Given the description of an element on the screen output the (x, y) to click on. 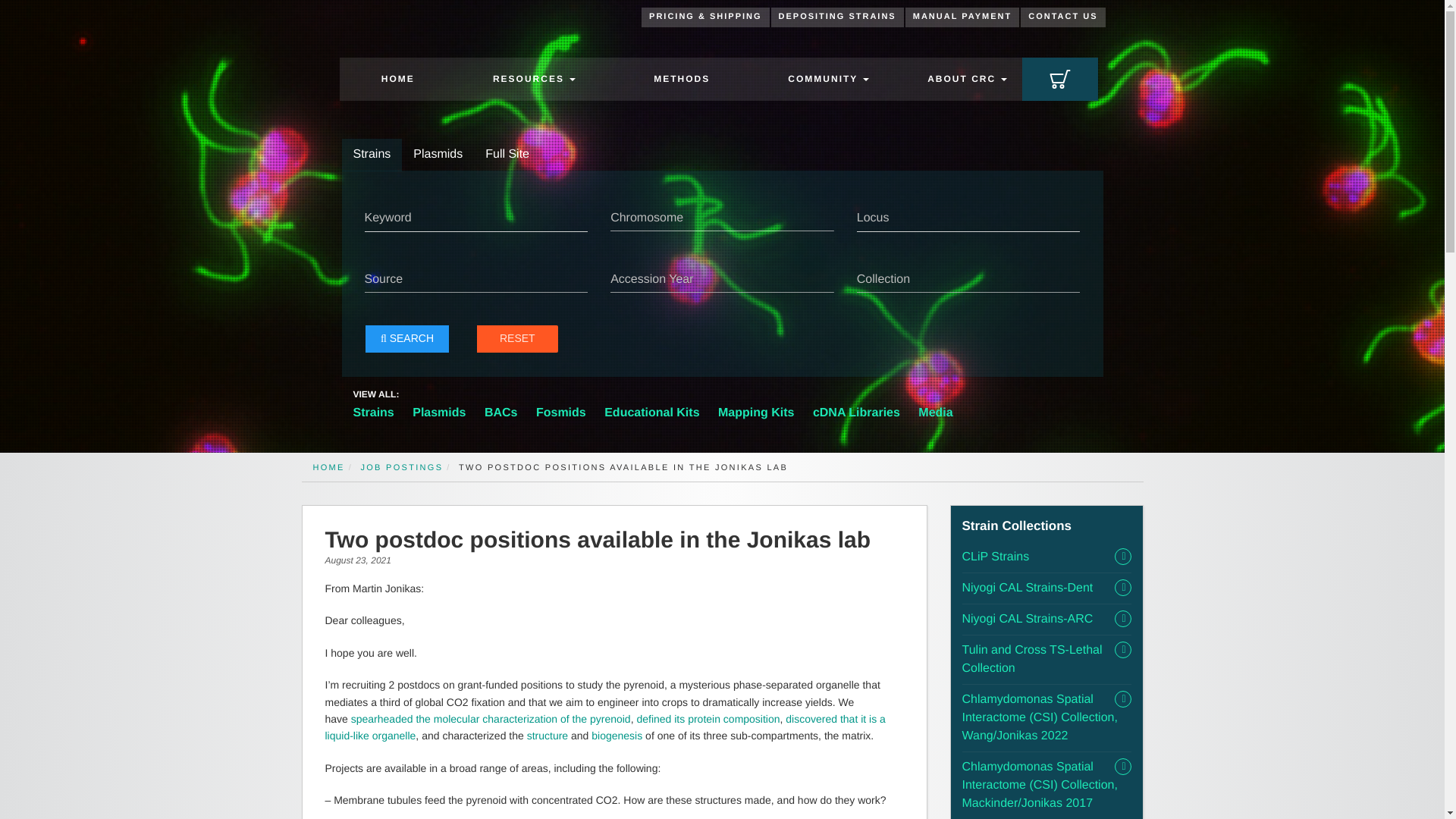
Strains (370, 154)
HOME (398, 78)
DEPOSITING STRAINS (837, 17)
Fosmids (560, 412)
SEARCH (406, 338)
RESET (516, 338)
COMMUNITY (828, 78)
Full Site (507, 154)
METHODS (681, 78)
CONTACT US (1062, 17)
